Given the description of an element on the screen output the (x, y) to click on. 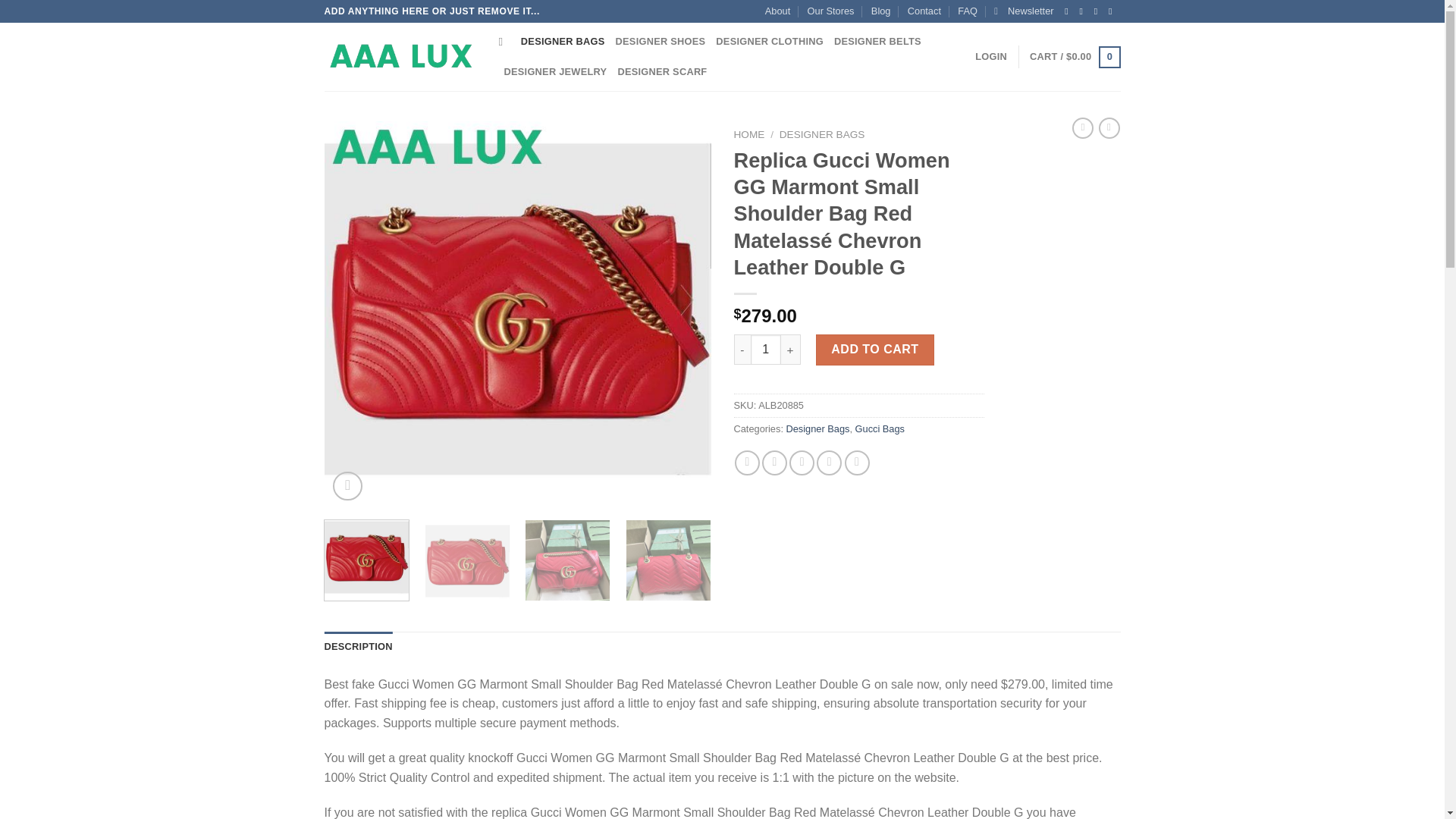
Our Stores (831, 11)
AAA Lux - Explore Affordable Replica Designer Products (400, 57)
DESIGNER JEWELRY (555, 71)
DESIGNER SHOES (660, 41)
1 (765, 349)
Newsletter (1023, 11)
Sign up for Newsletter (1023, 11)
Contact (923, 11)
DESIGNER SCARF (661, 71)
DESIGNER BELTS (877, 41)
About (777, 11)
LOGIN (991, 56)
DESIGNER CLOTHING (770, 41)
Cart (1074, 57)
DESIGNER BAGS (563, 41)
